Given the description of an element on the screen output the (x, y) to click on. 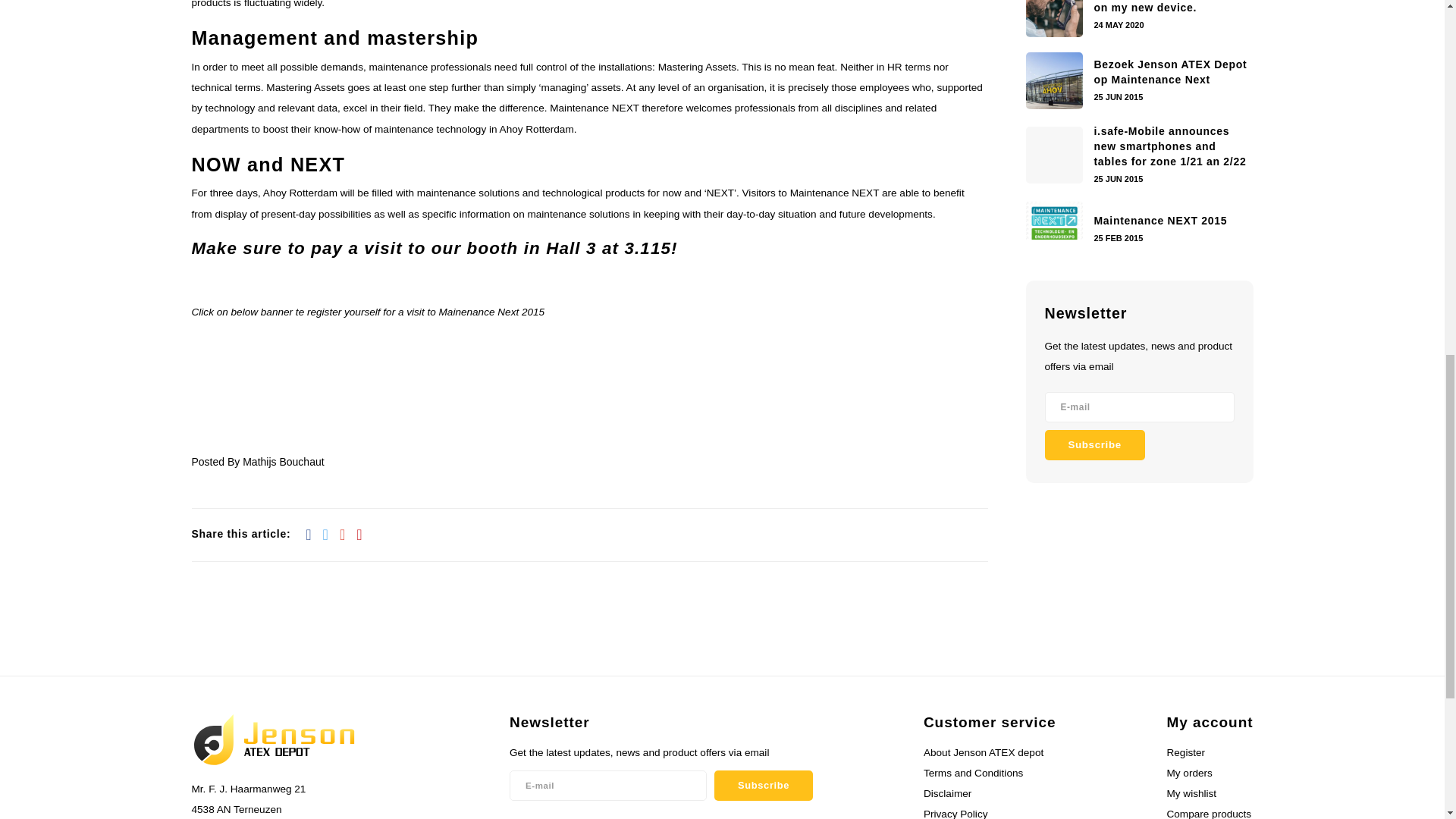
Subscribe (763, 785)
Register (1185, 752)
Subscribe (1094, 444)
My orders (1188, 772)
My wishlist (1190, 793)
